Given the description of an element on the screen output the (x, y) to click on. 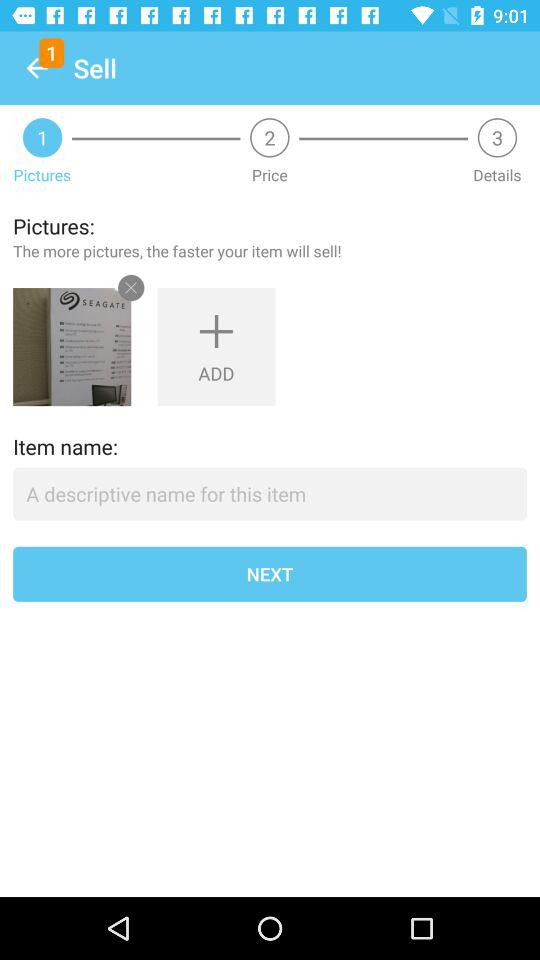
view picture (72, 347)
